Given the description of an element on the screen output the (x, y) to click on. 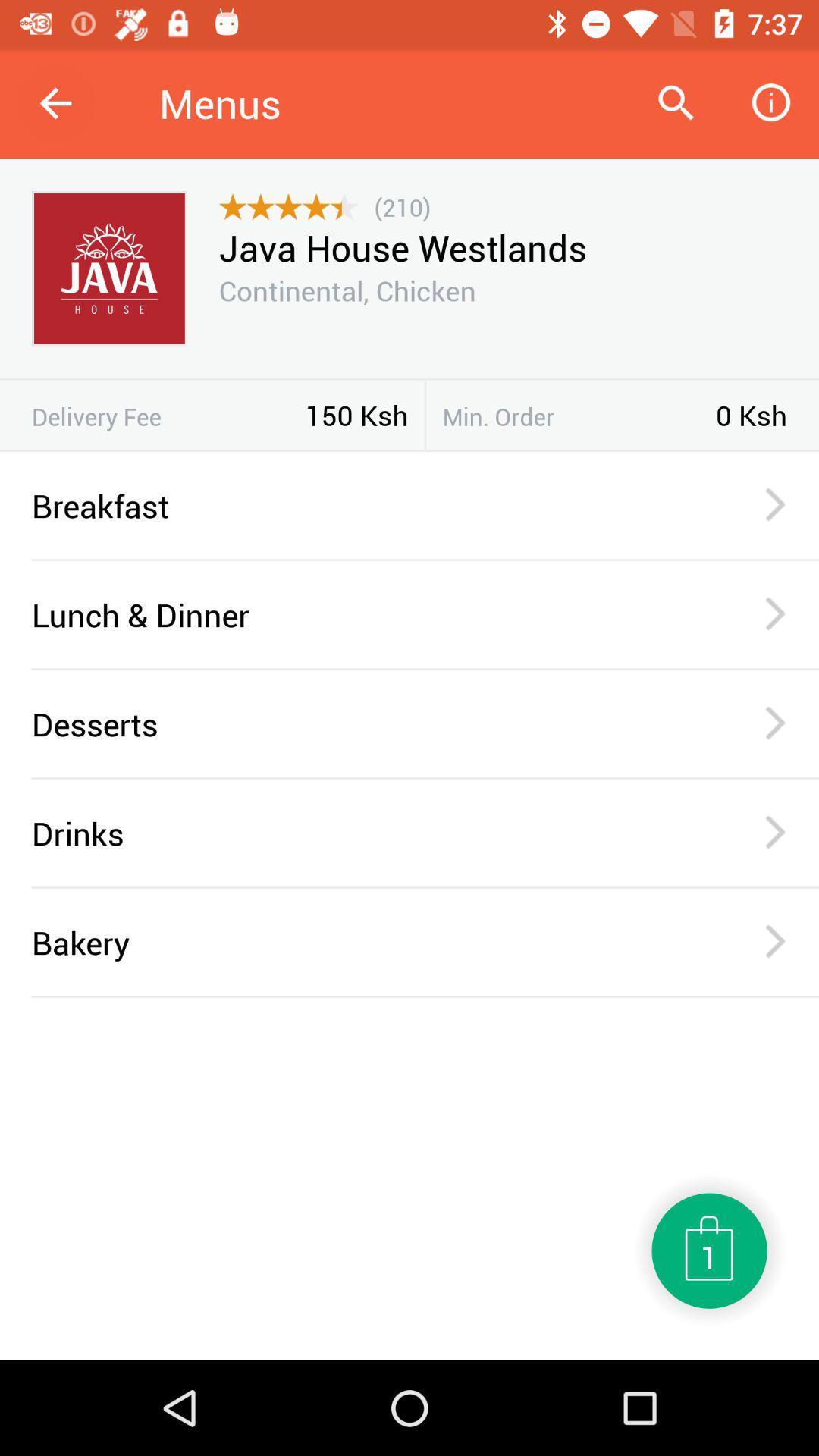
select the item to the left of the 0 ksh icon (579, 416)
